Given the description of an element on the screen output the (x, y) to click on. 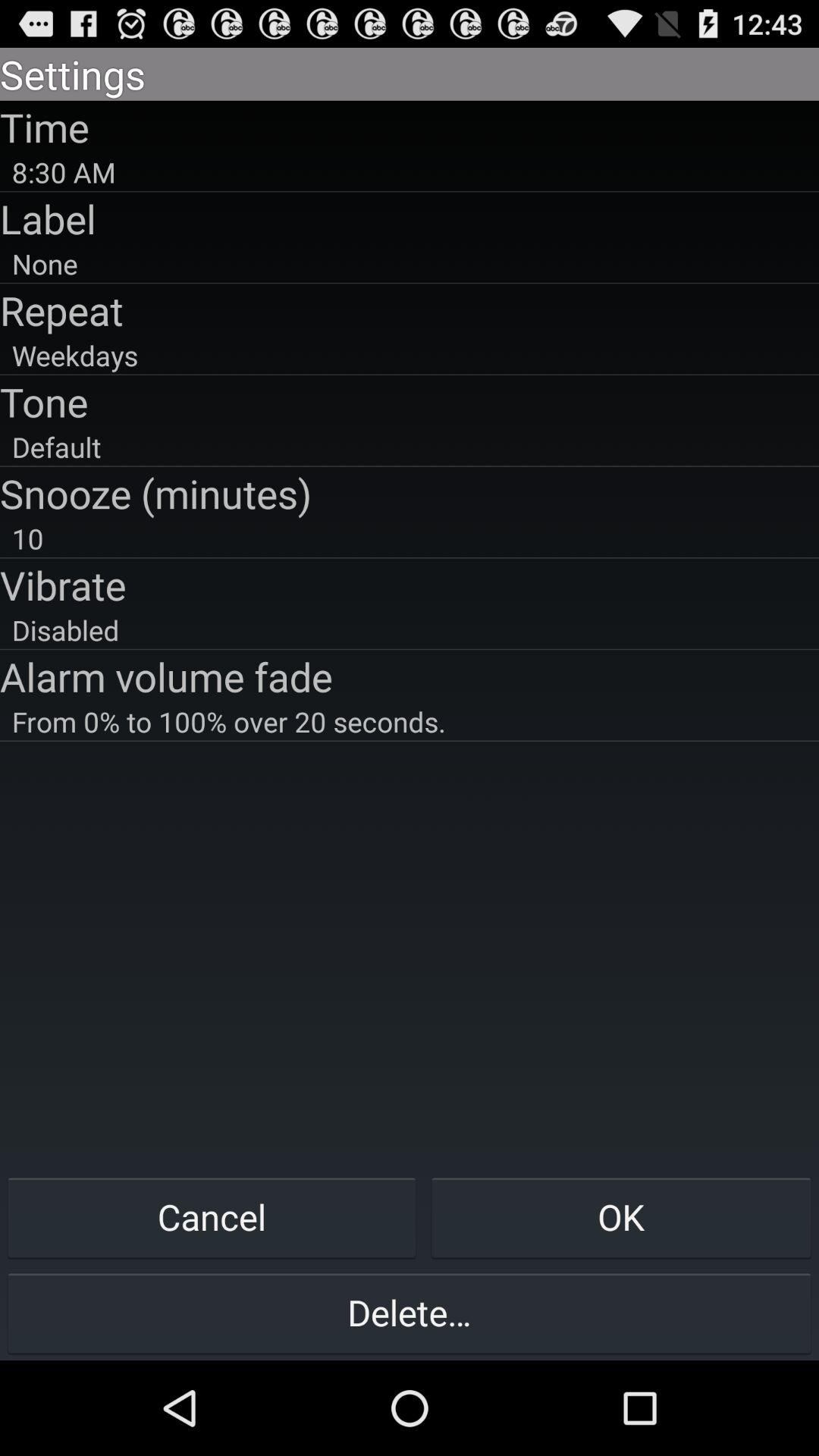
open the item below none item (409, 309)
